Given the description of an element on the screen output the (x, y) to click on. 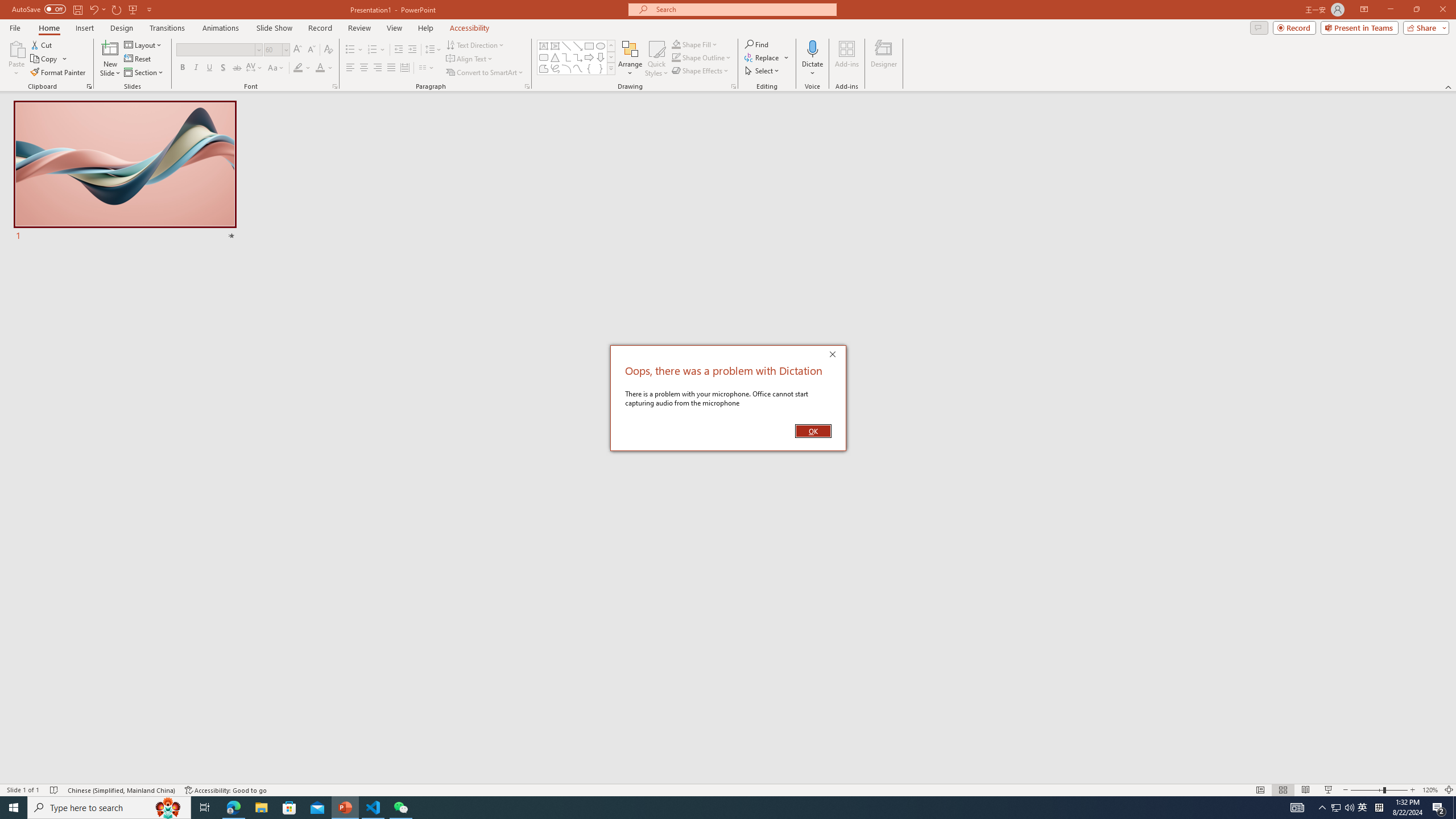
Justify (390, 67)
Freeform: Shape (1335, 807)
Task View (543, 68)
Section (204, 807)
Align Right (144, 72)
Align Text (377, 67)
Q2790: 100% (470, 58)
Freeform: Scribble (1349, 807)
Show desktop (554, 68)
